Given the description of an element on the screen output the (x, y) to click on. 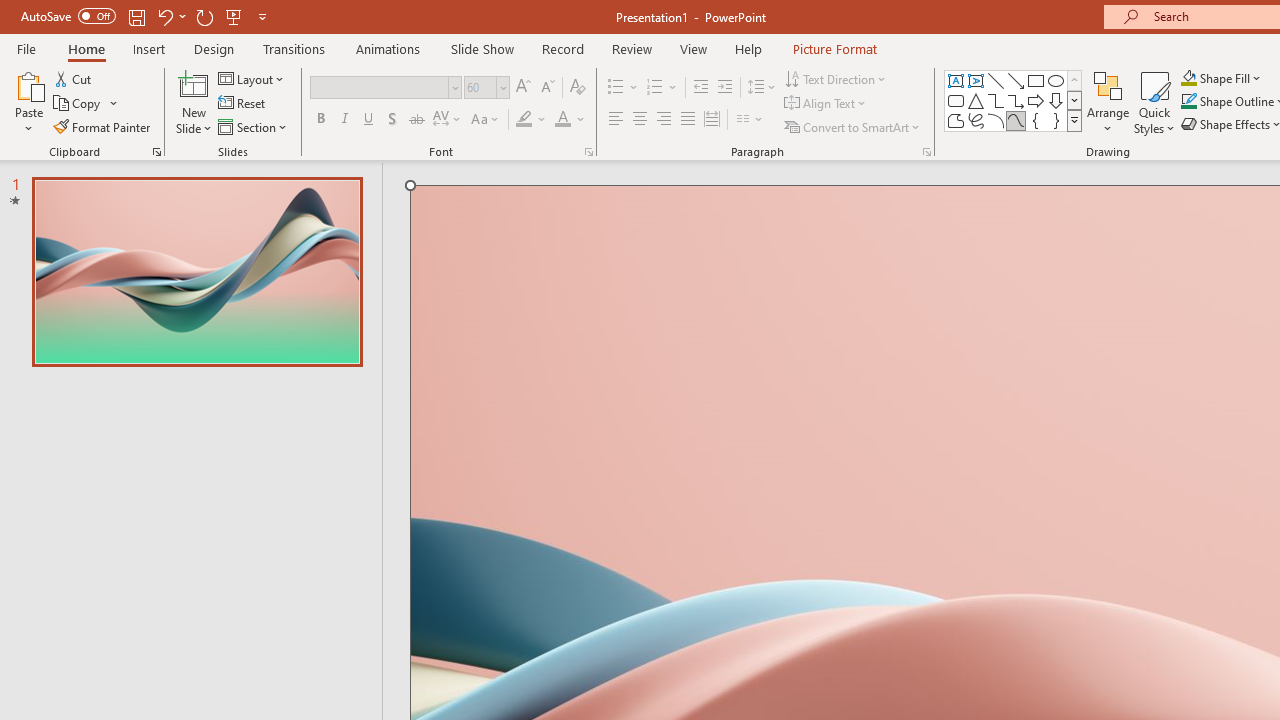
Picture Format (834, 48)
